Given the description of an element on the screen output the (x, y) to click on. 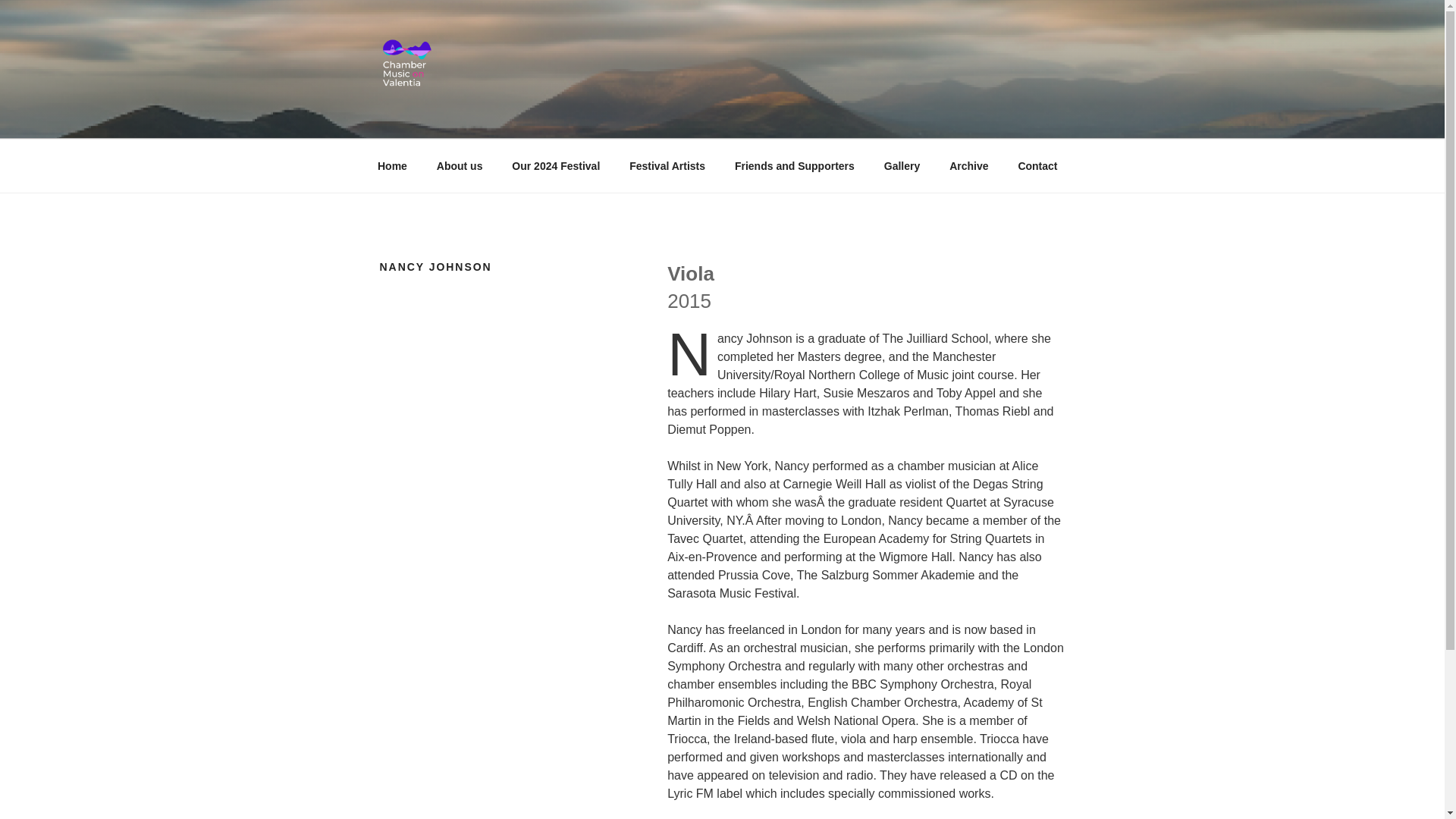
About us (459, 165)
Contact (1037, 165)
CHAMBER MUSIC ON VALENTIA (618, 119)
Friends and Supporters (793, 165)
Festival Artists (667, 165)
Gallery (901, 165)
Home (392, 165)
Archive (968, 165)
Our 2024 Festival (555, 165)
